Given the description of an element on the screen output the (x, y) to click on. 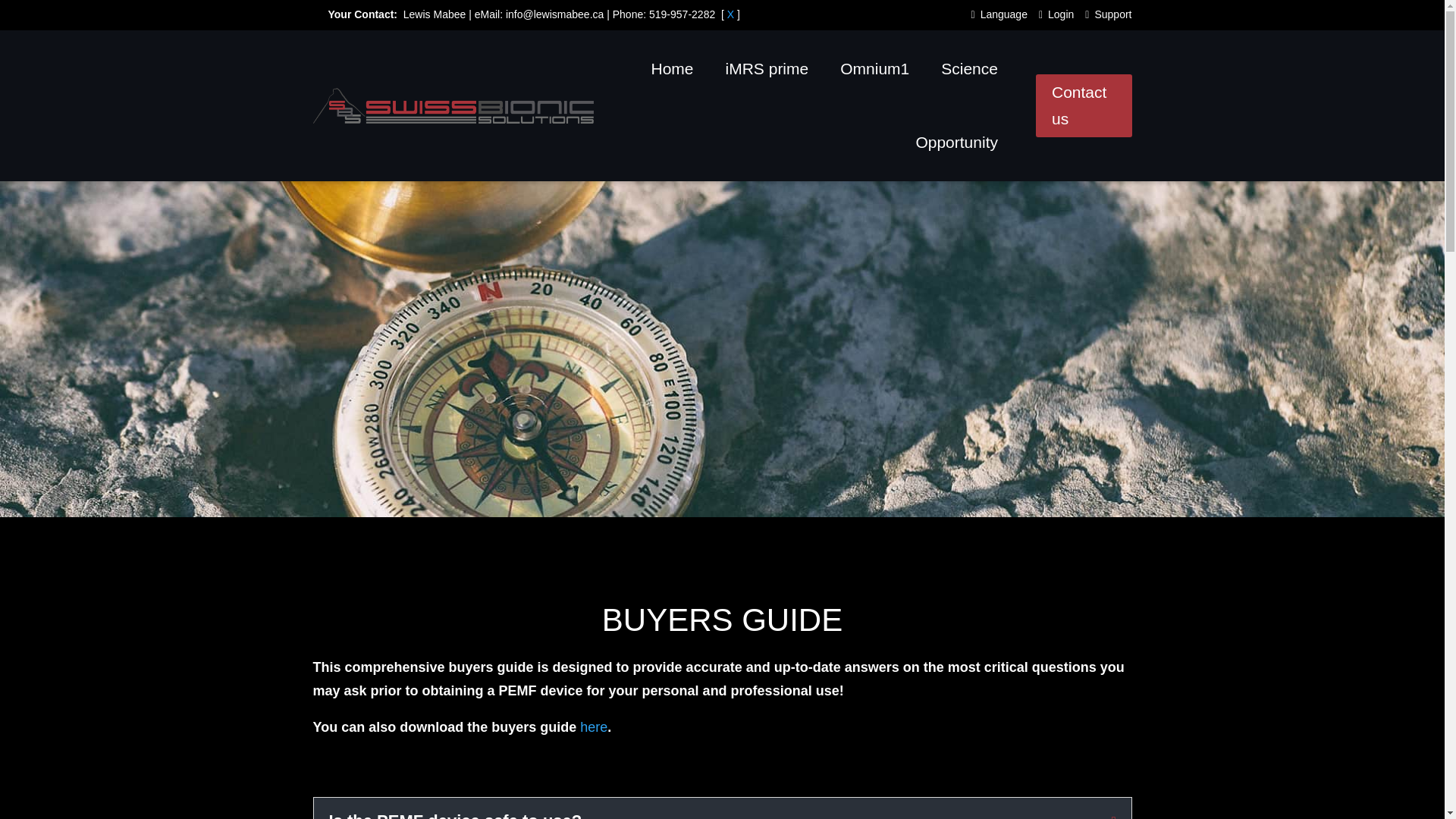
Omnium1 (874, 68)
Login (1058, 17)
iMRS prime (767, 68)
Support (1110, 17)
Opportunity (956, 142)
Language (1001, 17)
519-957-2282 (681, 14)
Contact us (1083, 106)
